Given the description of an element on the screen output the (x, y) to click on. 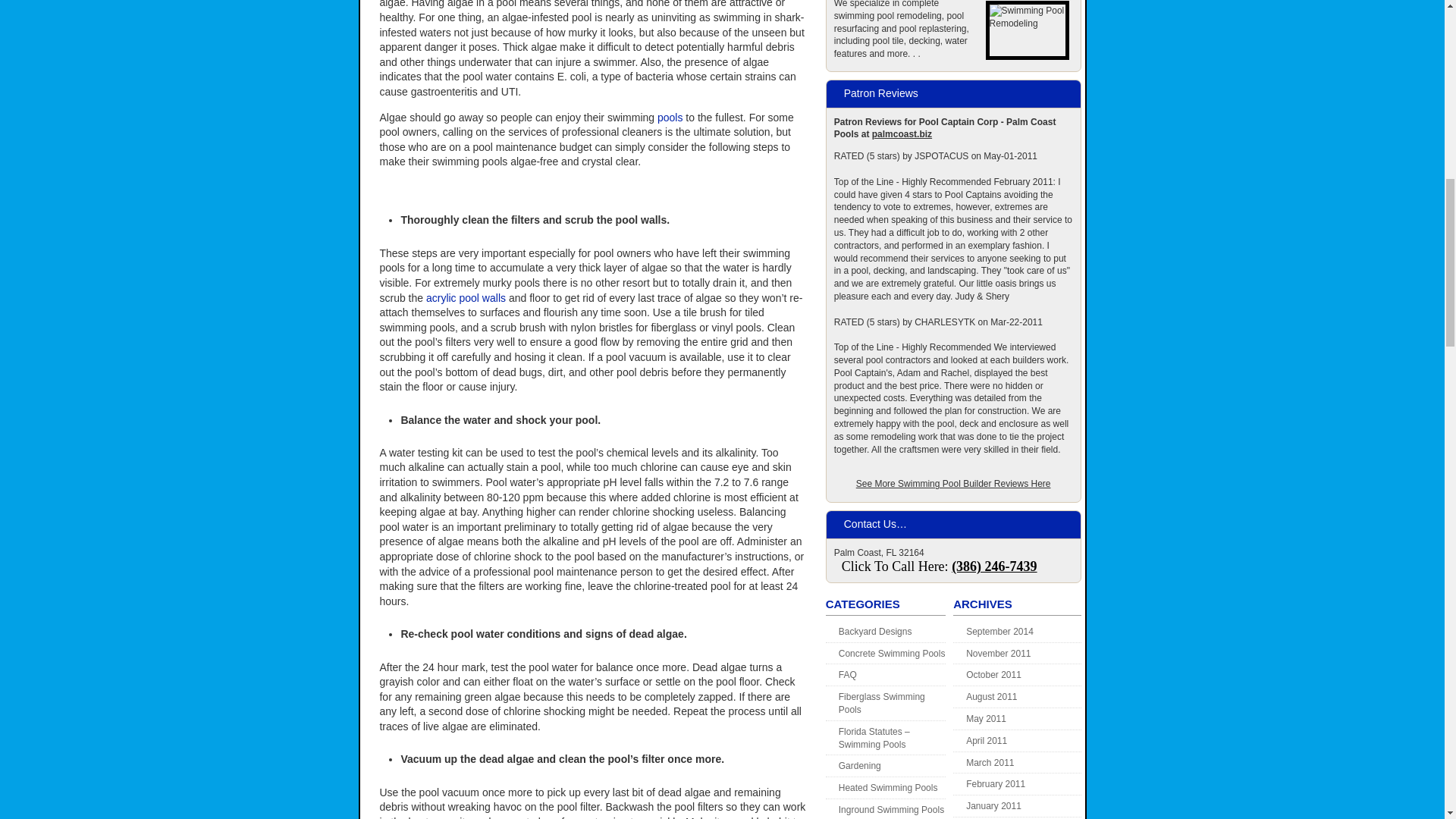
Swimming Pool Contractor Builder Customer Reviews (953, 483)
pools (670, 117)
swimming-pool-remodelJPG (1026, 29)
Inground Swimming Pools (890, 809)
Gardening Information (859, 765)
acrylic pool walls (465, 297)
